Given the description of an element on the screen output the (x, y) to click on. 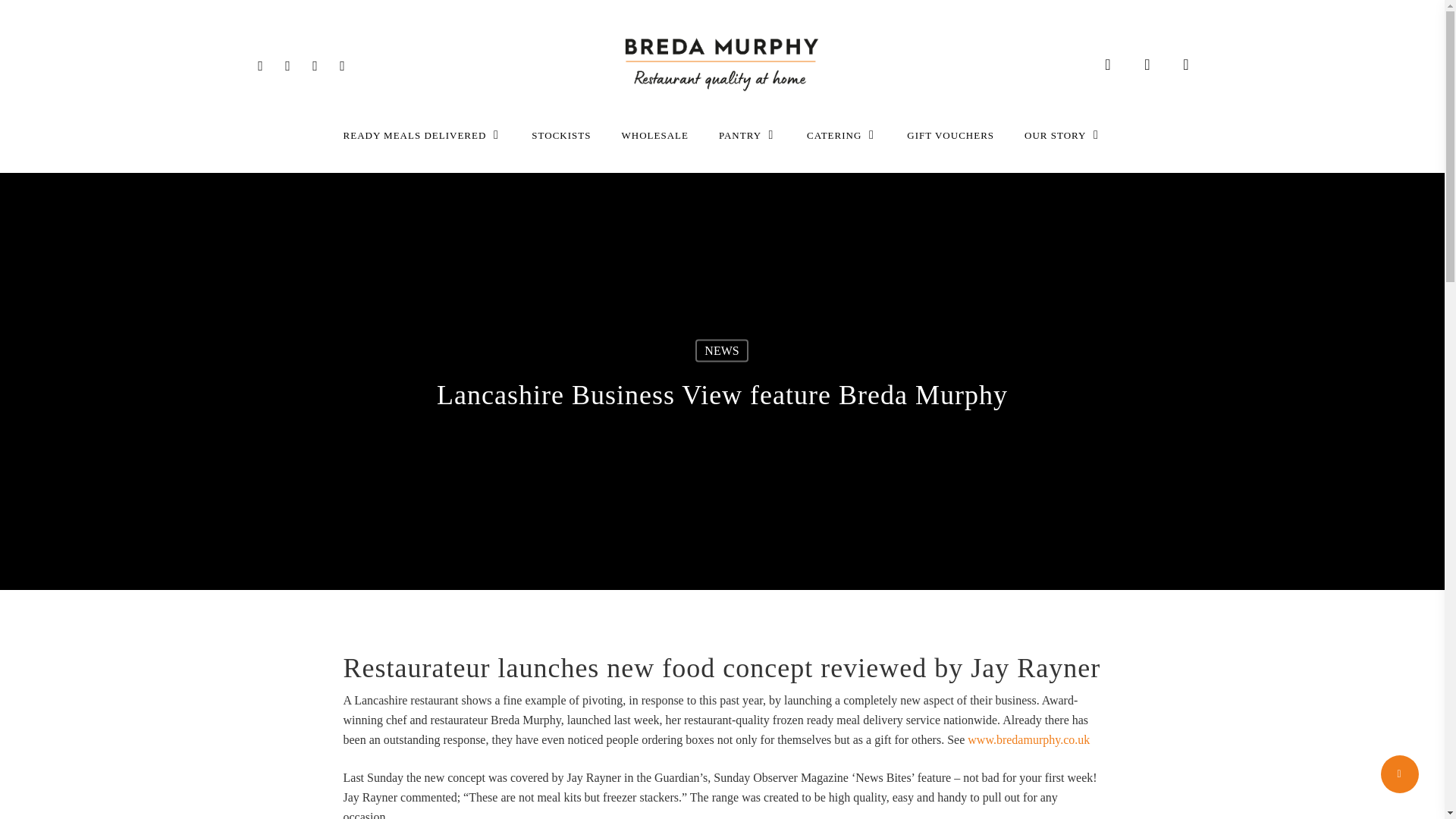
Sign up (928, 623)
GIFT VOUCHERS (950, 135)
CATERING (841, 135)
Instagram (315, 63)
PANTRY (747, 135)
NEWS (721, 350)
READY MEALS DELIVERED (422, 135)
Twitter (261, 63)
account (1147, 64)
WHOLESALE (654, 135)
STOCKISTS (560, 135)
OUR STORY (1062, 135)
search (1107, 64)
Tripadvisor (342, 63)
Facebook (288, 63)
